Given the description of an element on the screen output the (x, y) to click on. 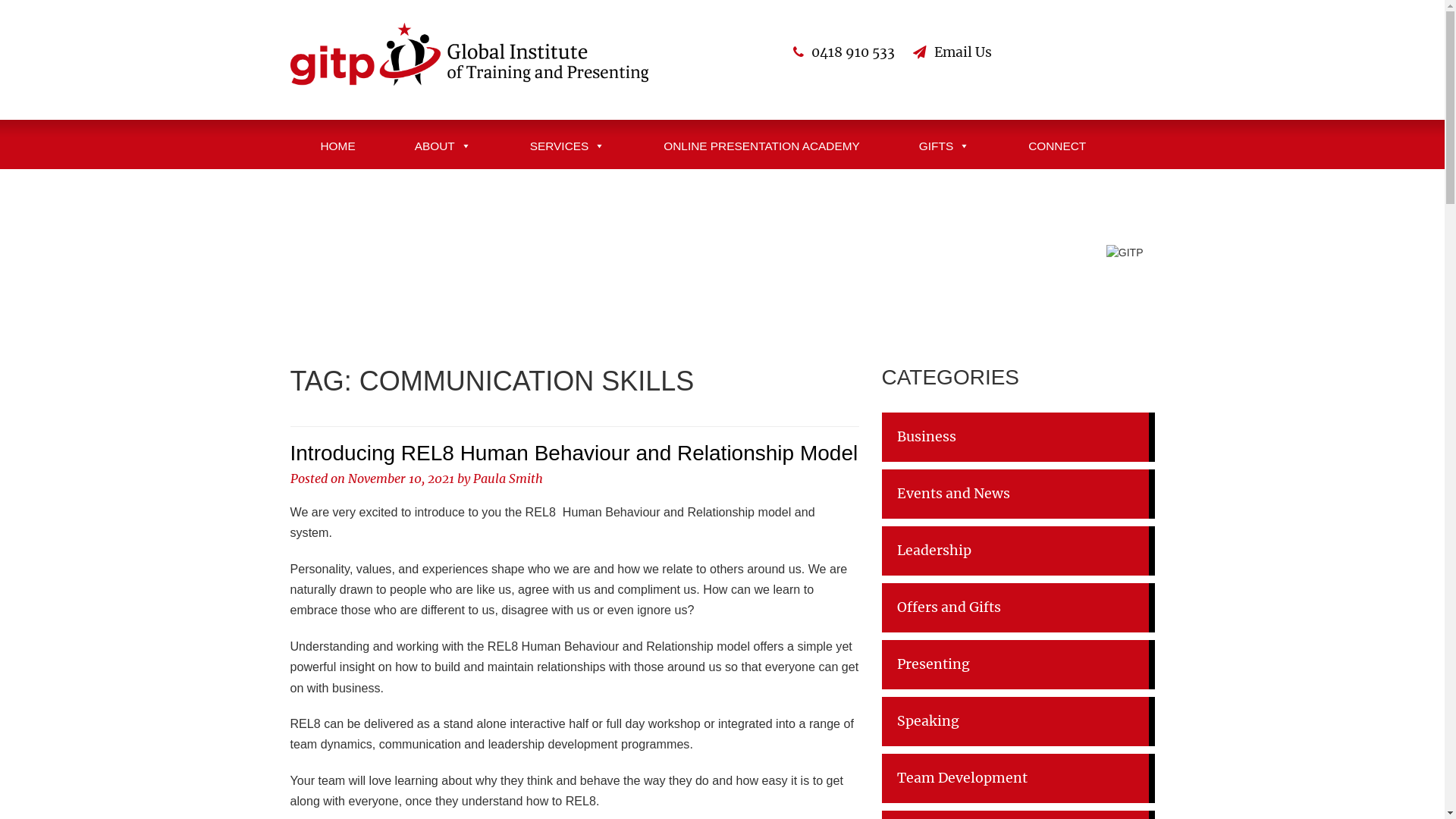
CONNECT Element type: text (1056, 144)
Events and News Element type: text (1017, 493)
Introducing REL8 Human Behaviour and Relationship Model Element type: text (573, 452)
Business Element type: text (1017, 436)
ONLINE PRESENTATION ACADEMY Element type: text (761, 144)
Team Development Element type: text (1017, 778)
HOME Element type: text (338, 144)
Presenting Element type: text (1017, 664)
0418 910 533 Element type: text (852, 51)
November 10, 2021 Element type: text (400, 478)
GIFTS Element type: text (943, 144)
Skip to content Element type: text (0, 0)
Email Us Element type: text (962, 51)
Leadership Element type: text (1017, 550)
SERVICES Element type: text (567, 144)
Speaking Element type: text (1017, 721)
Offers and Gifts Element type: text (1017, 607)
ABOUT Element type: text (442, 144)
Paula Smith Element type: text (507, 478)
